Given the description of an element on the screen output the (x, y) to click on. 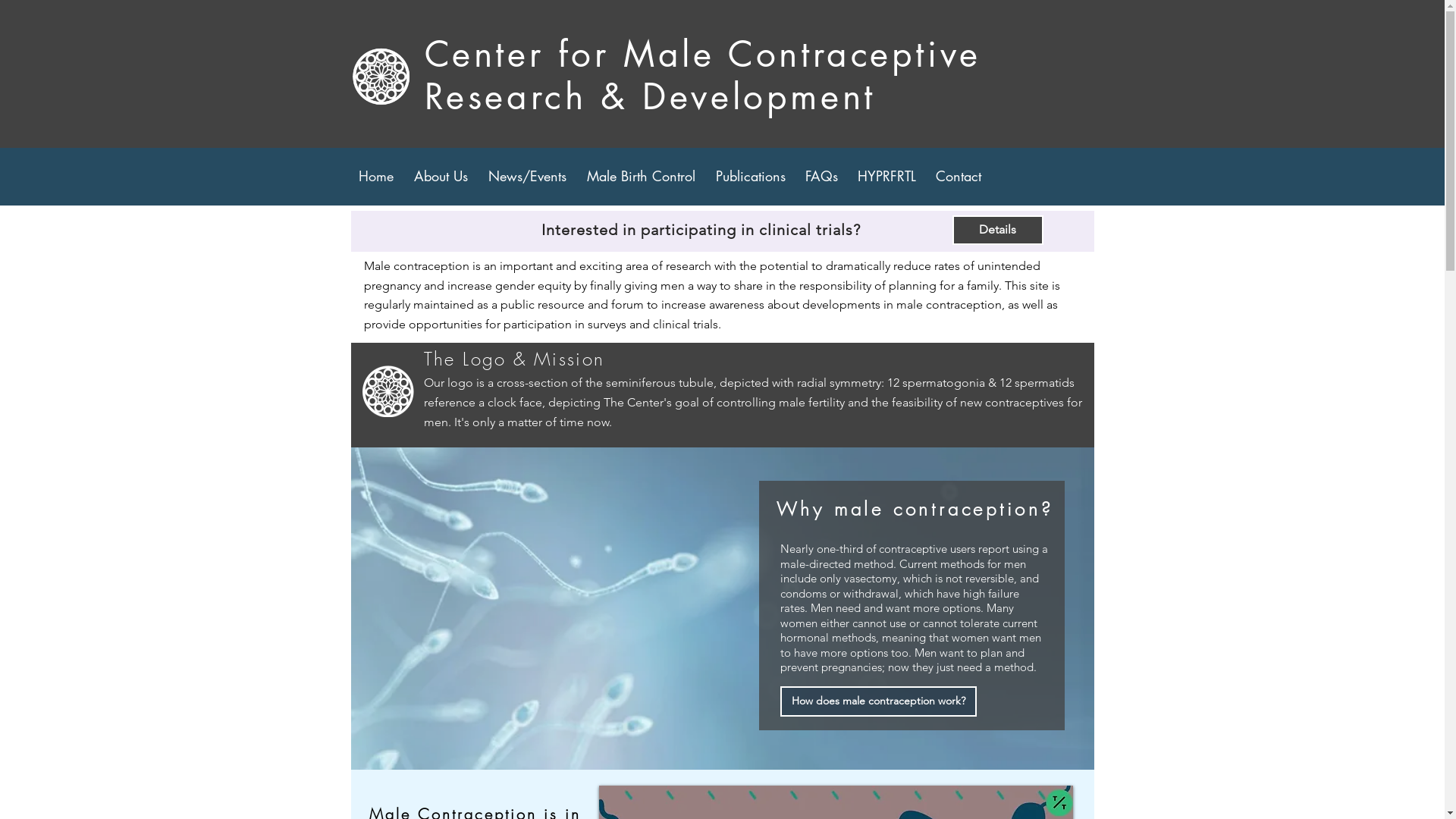
HYPRFRTL Element type: text (888, 176)
How does male contraception work? Element type: text (877, 701)
FAQs Element type: text (823, 176)
Details Element type: text (997, 229)
Visitor Analytics Element type: hover (1442, 4)
Center for Male Contraceptive
Research & Development Element type: text (702, 75)
News/Events Element type: text (529, 176)
Home Element type: text (377, 176)
